Given the description of an element on the screen output the (x, y) to click on. 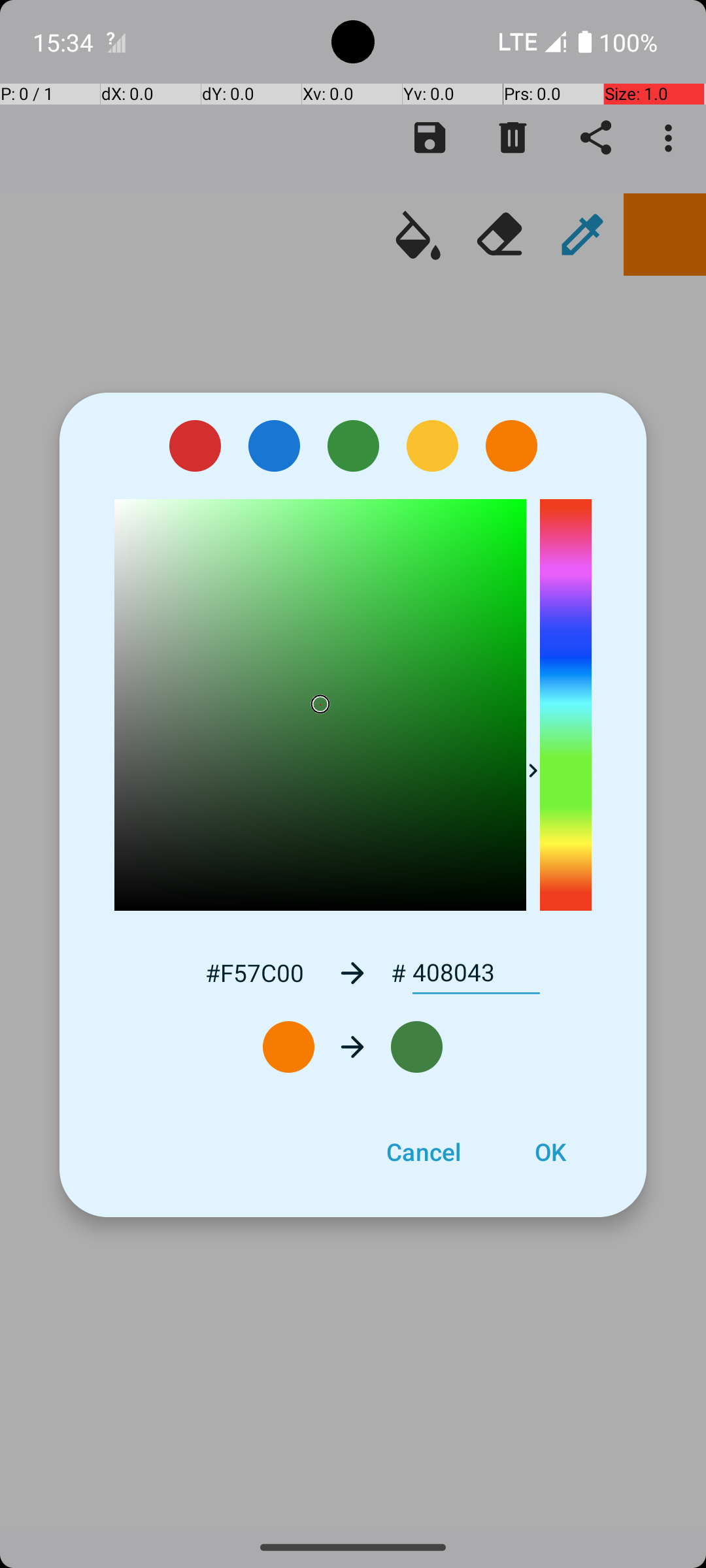
#F57C00 Element type: android.widget.TextView (254, 972)
408043 Element type: android.widget.EditText (475, 972)
